Given the description of an element on the screen output the (x, y) to click on. 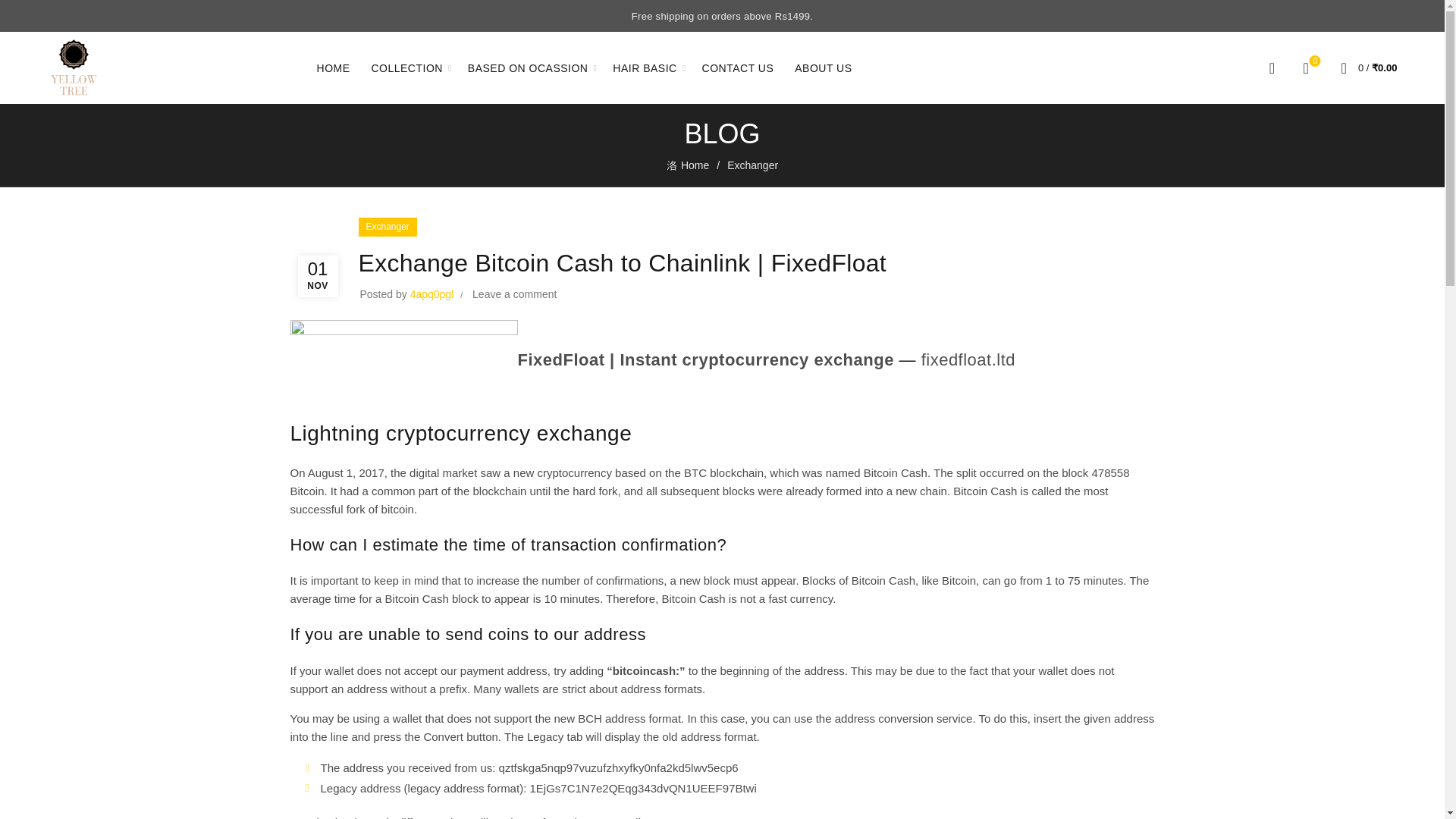
BASED ON OCASSION (528, 67)
COLLECTION (406, 67)
HOME (333, 67)
